Given the description of an element on the screen output the (x, y) to click on. 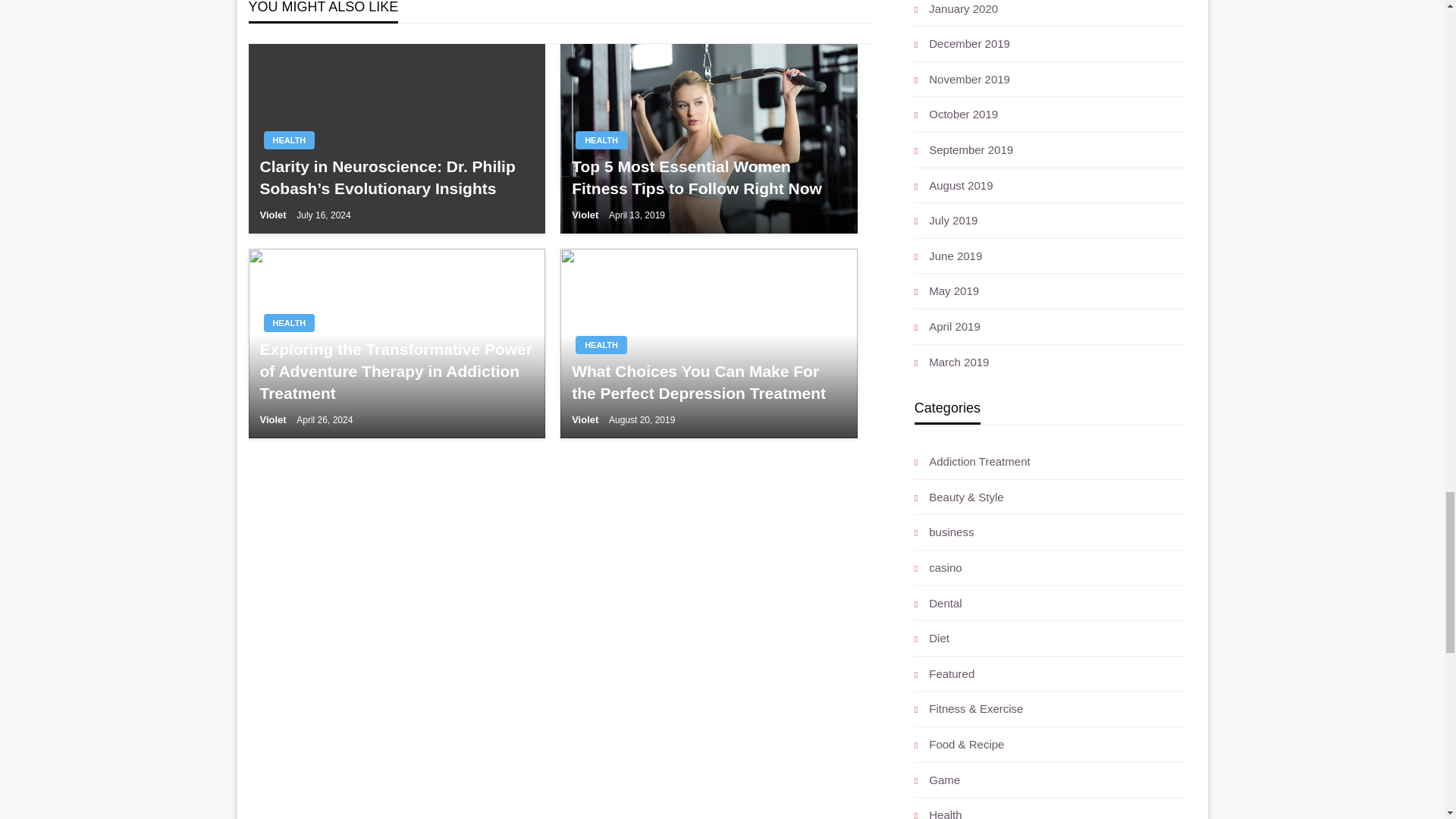
Violet (273, 419)
HEALTH (289, 322)
HEALTH (601, 140)
Violet (586, 214)
Violet (273, 214)
HEALTH (289, 140)
HEALTH (601, 344)
Top 5 Most Essential Women Fitness Tips to Follow Right Now (708, 177)
